Given the description of an element on the screen output the (x, y) to click on. 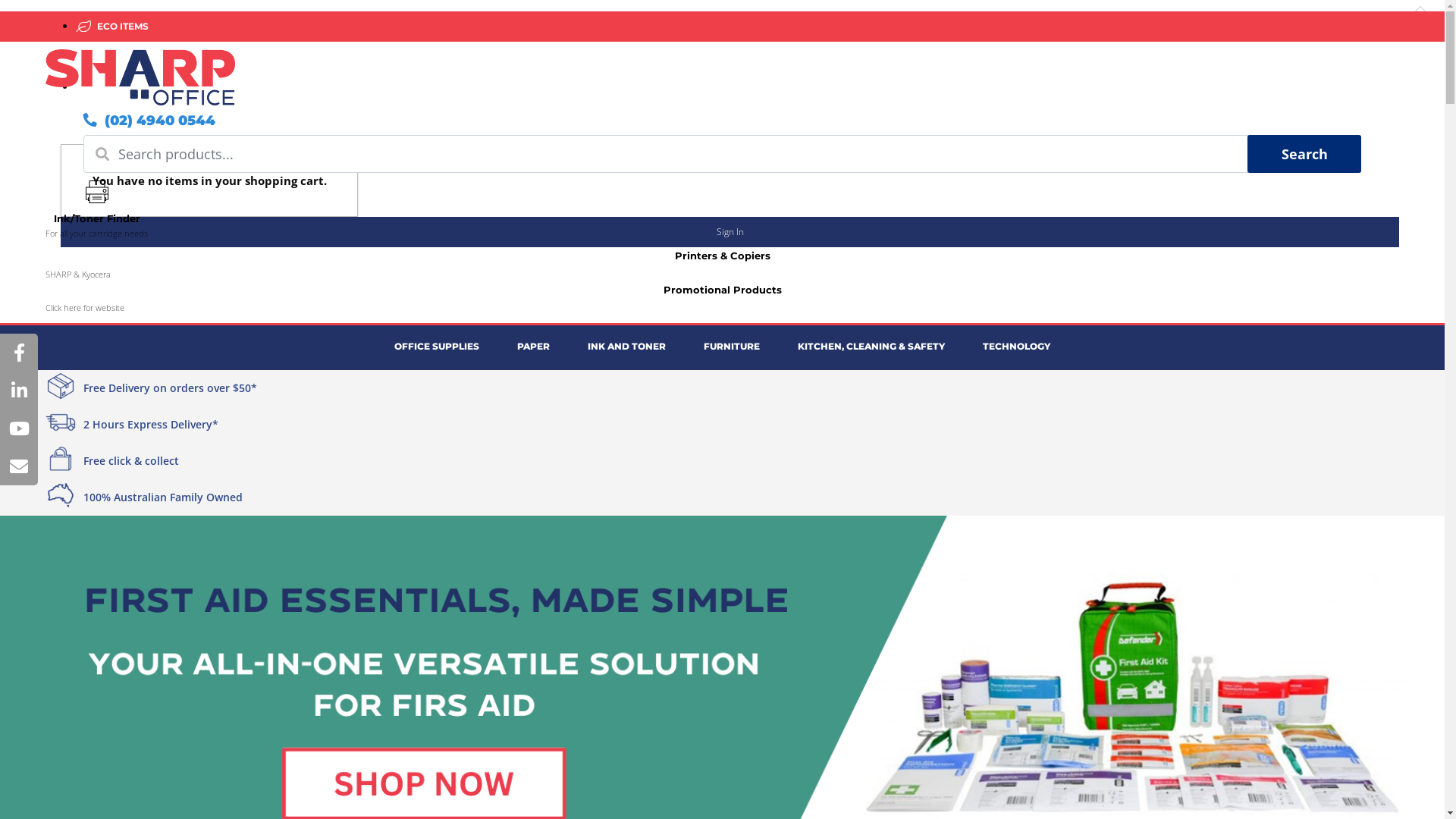
(02) 4940 0544 Element type: text (149, 120)
OFFICE SUPPLIES Element type: text (436, 346)
Registration Element type: text (722, 128)
Search Element type: text (1304, 153)
FURNITURE Element type: text (731, 346)
Sign In Element type: text (729, 231)
ECO ITEMS Element type: text (119, 25)
AUSTRALIA MADE Element type: text (136, 86)
KITCHEN, CLEANING & SAFETY Element type: text (870, 346)
INDIGENOUS Element type: text (127, 56)
PAPER Element type: text (533, 346)
INK AND TONER Element type: text (626, 346)
Promotional Products
Click here for website Element type: text (722, 309)
TECHNOLOGY Element type: text (1016, 346)
Ink/Toner Finder
For all your cartridge needs Element type: text (96, 209)
Printers & Copiers
SHARP & Kyocera Element type: text (722, 279)
